Given the description of an element on the screen output the (x, y) to click on. 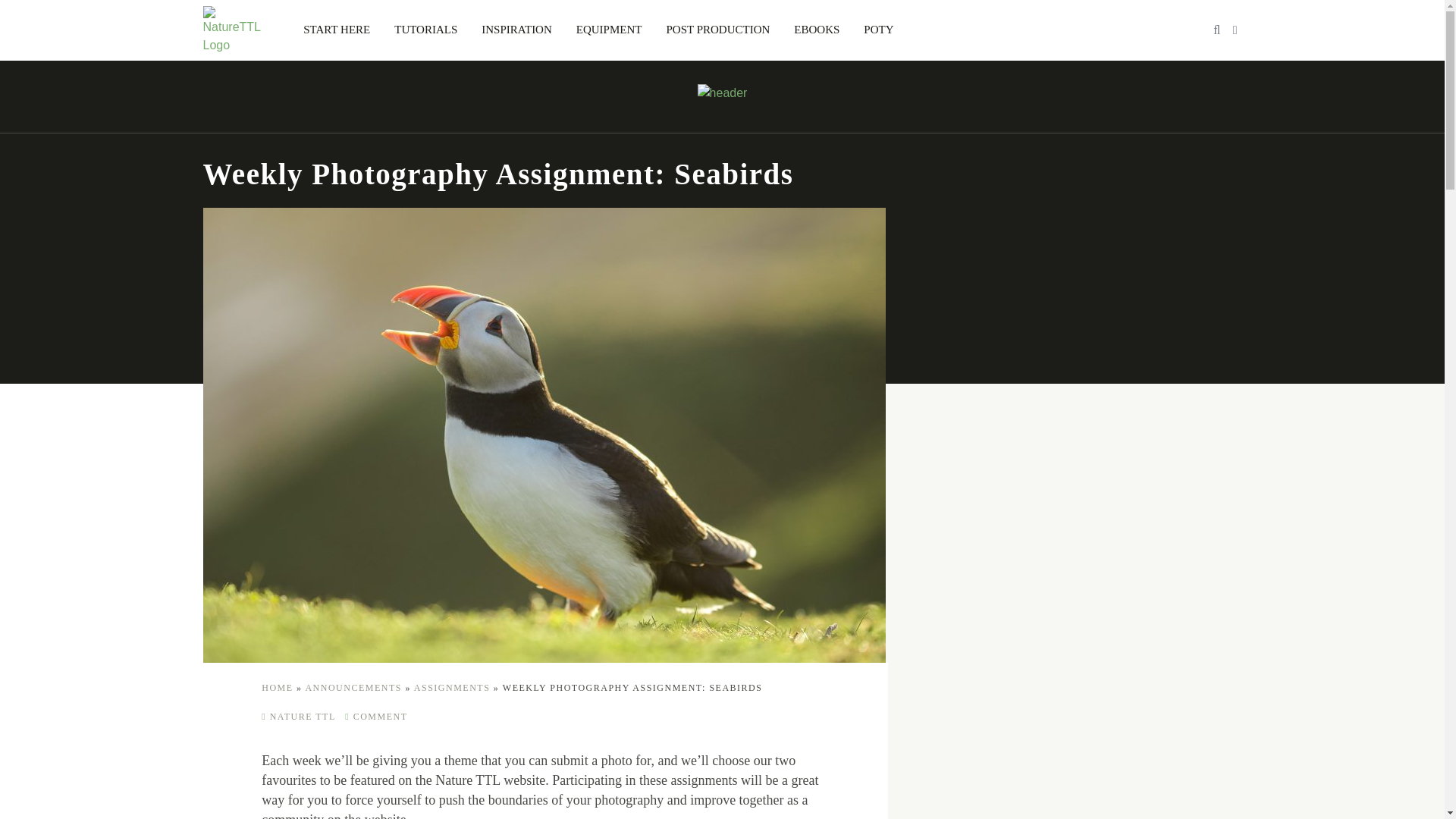
TUTORIALS (424, 30)
START HERE (336, 30)
